Given the description of an element on the screen output the (x, y) to click on. 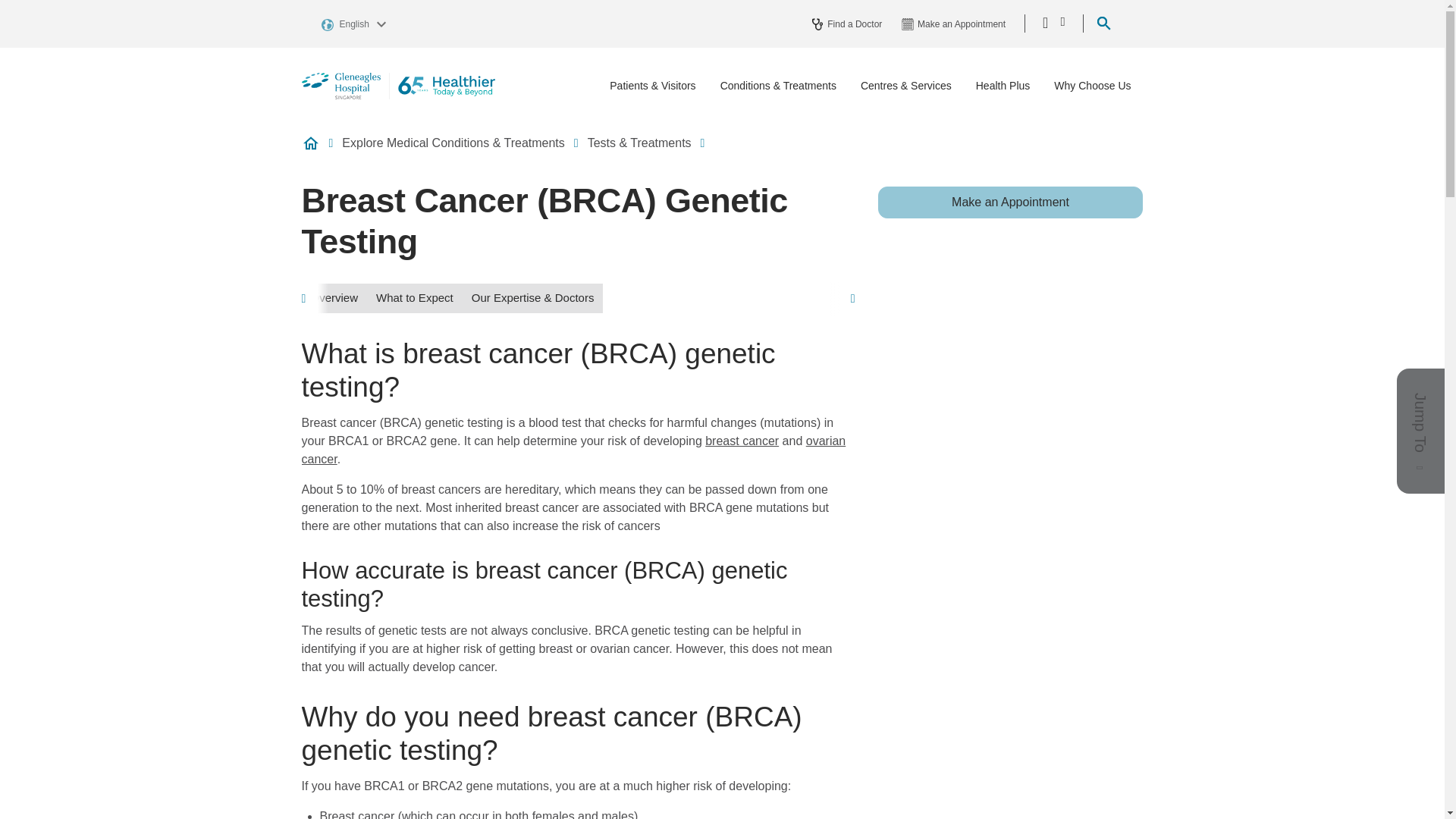
Health Plus (1002, 86)
English (355, 23)
Why Choose Us (1092, 86)
Make an Appointment (1009, 202)
